Given the description of an element on the screen output the (x, y) to click on. 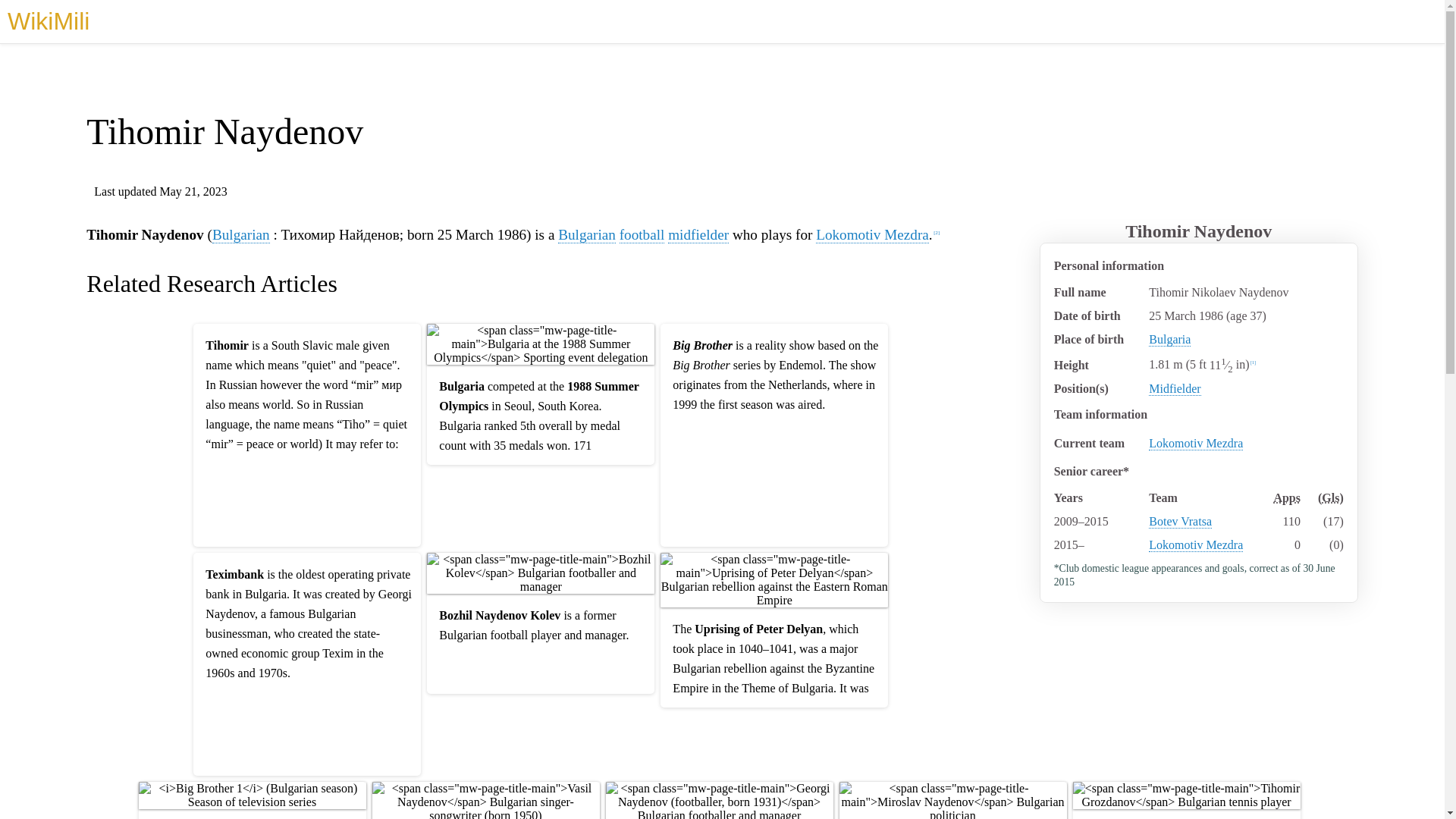
Lokomotiv Mezdra (1195, 443)
Lokomotiv Mezdra (1195, 545)
Bulgaria (1169, 339)
POFC Botev Vratsa (1179, 521)
midfielder (698, 234)
Bulgarian (586, 234)
FC Lokomotiv Mezdra (1195, 545)
Bulgarian language (240, 234)
Bulgaria (586, 234)
FC Lokomotiv Mezdra (871, 234)
Bulgaria (1169, 339)
WikiMili (47, 21)
football (642, 234)
Bulgarian (240, 234)
Botev Vratsa (1179, 521)
